Given the description of an element on the screen output the (x, y) to click on. 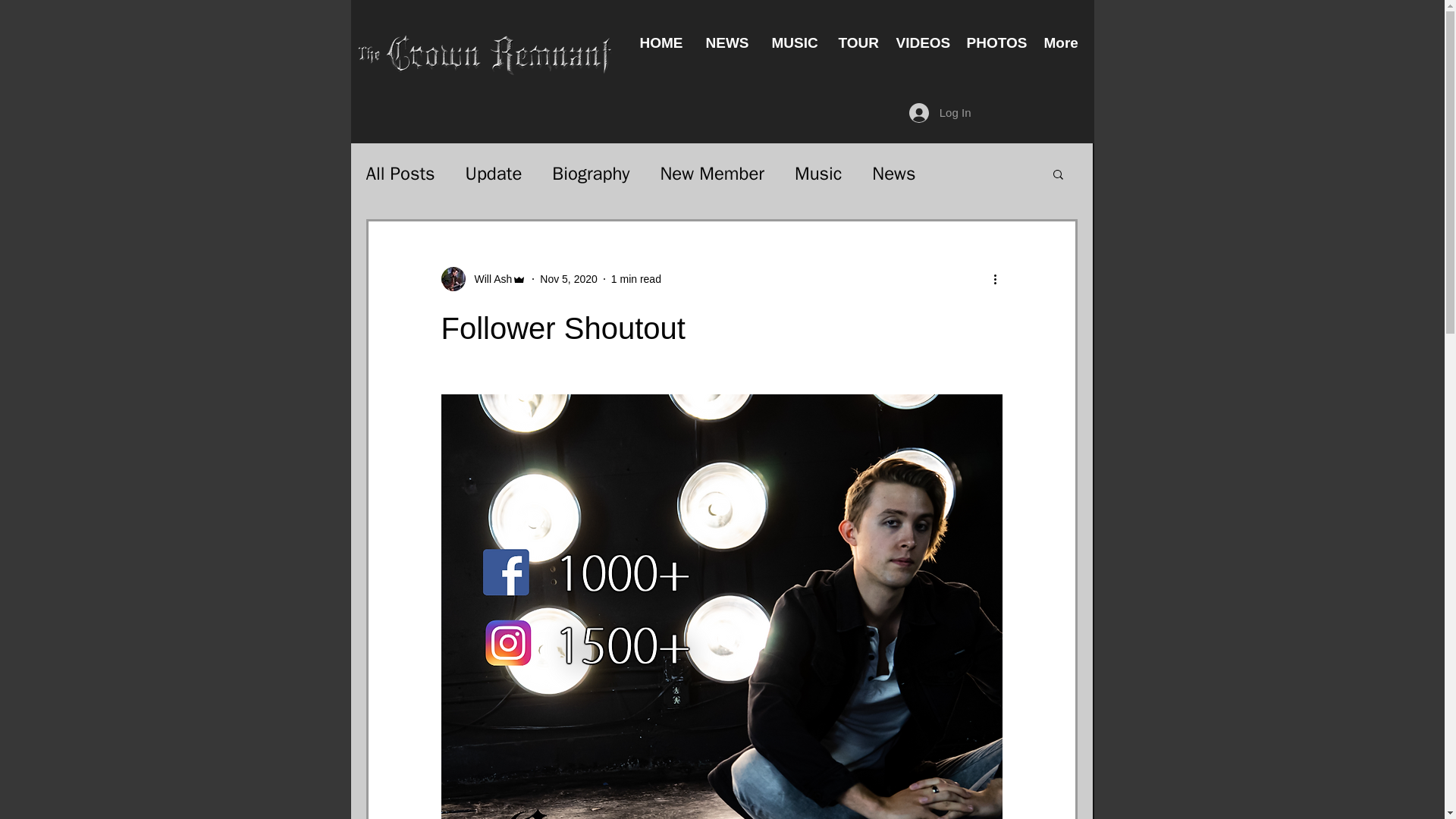
Will Ash (484, 278)
Update (493, 173)
HOME (660, 42)
Nov 5, 2020 (568, 278)
NEWS (727, 42)
PHOTOS (993, 42)
1 min read (636, 278)
TOUR (855, 42)
MUSIC (793, 42)
Log In (939, 112)
